Given the description of an element on the screen output the (x, y) to click on. 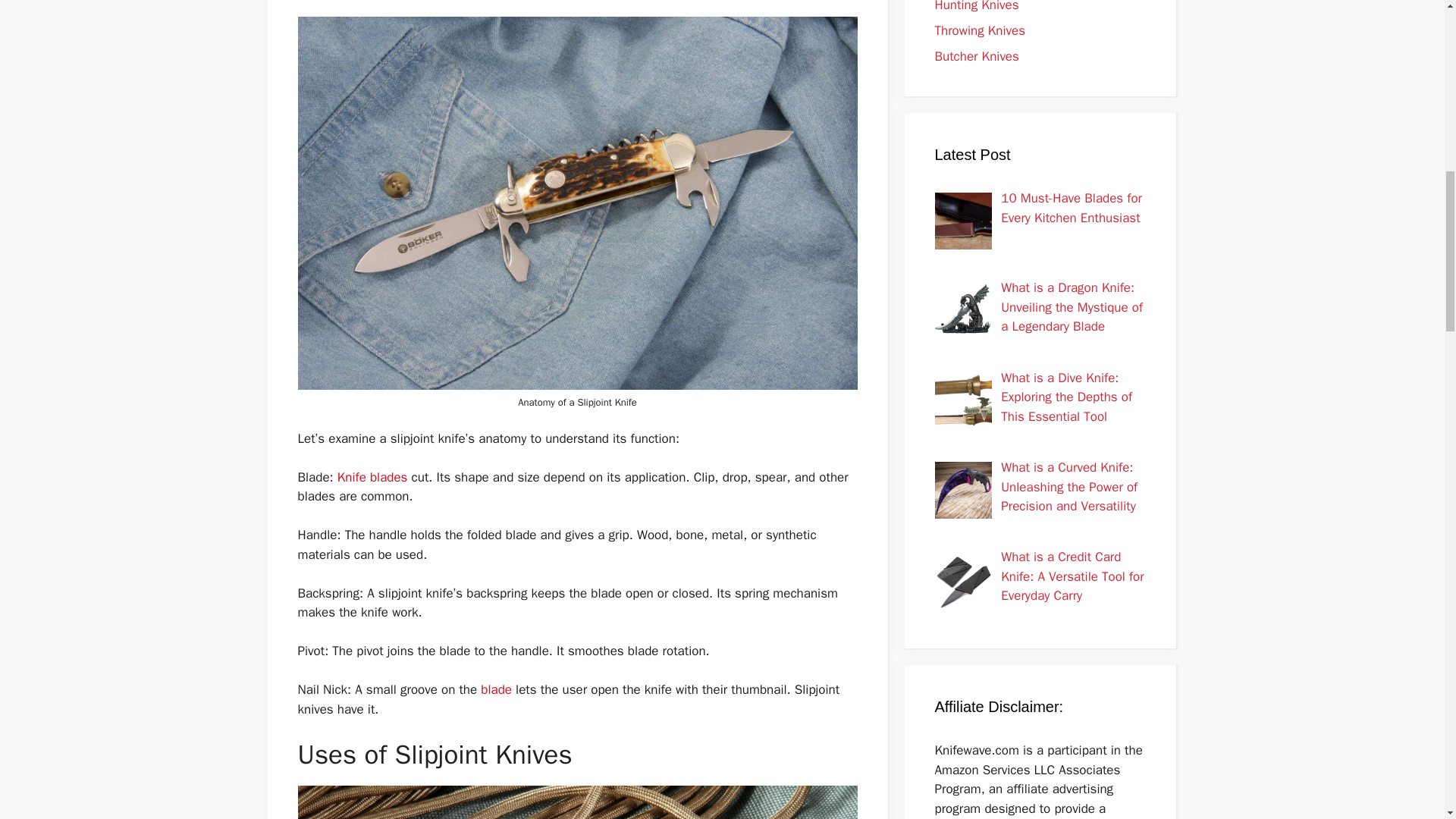
Hunting Knives (975, 6)
Butcher Knives (975, 56)
blade (497, 689)
Scroll back to top (1406, 720)
Knife blades (374, 477)
Throwing Knives (979, 30)
10 Must-Have Blades for Every Kitchen Enthusiast (1071, 208)
